Given the description of an element on the screen output the (x, y) to click on. 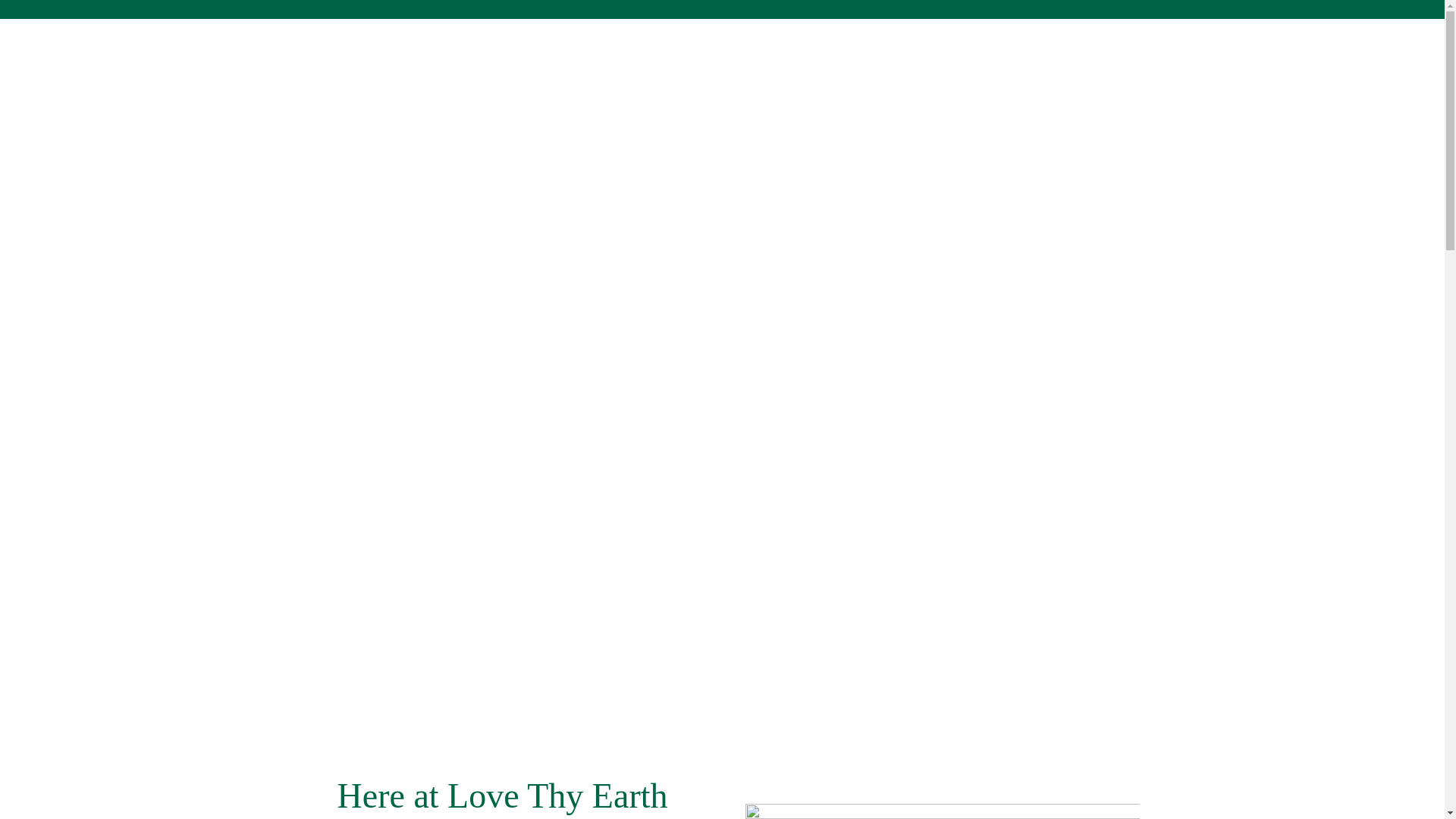
HOME Element type: text (665, 63)
CONTACT Element type: text (985, 63)
OUR STORY Element type: text (754, 63)
SHOP Element type: text (840, 63)
(0) Element type: text (1110, 63)
BLOG Element type: text (906, 63)
